Given the description of an element on the screen output the (x, y) to click on. 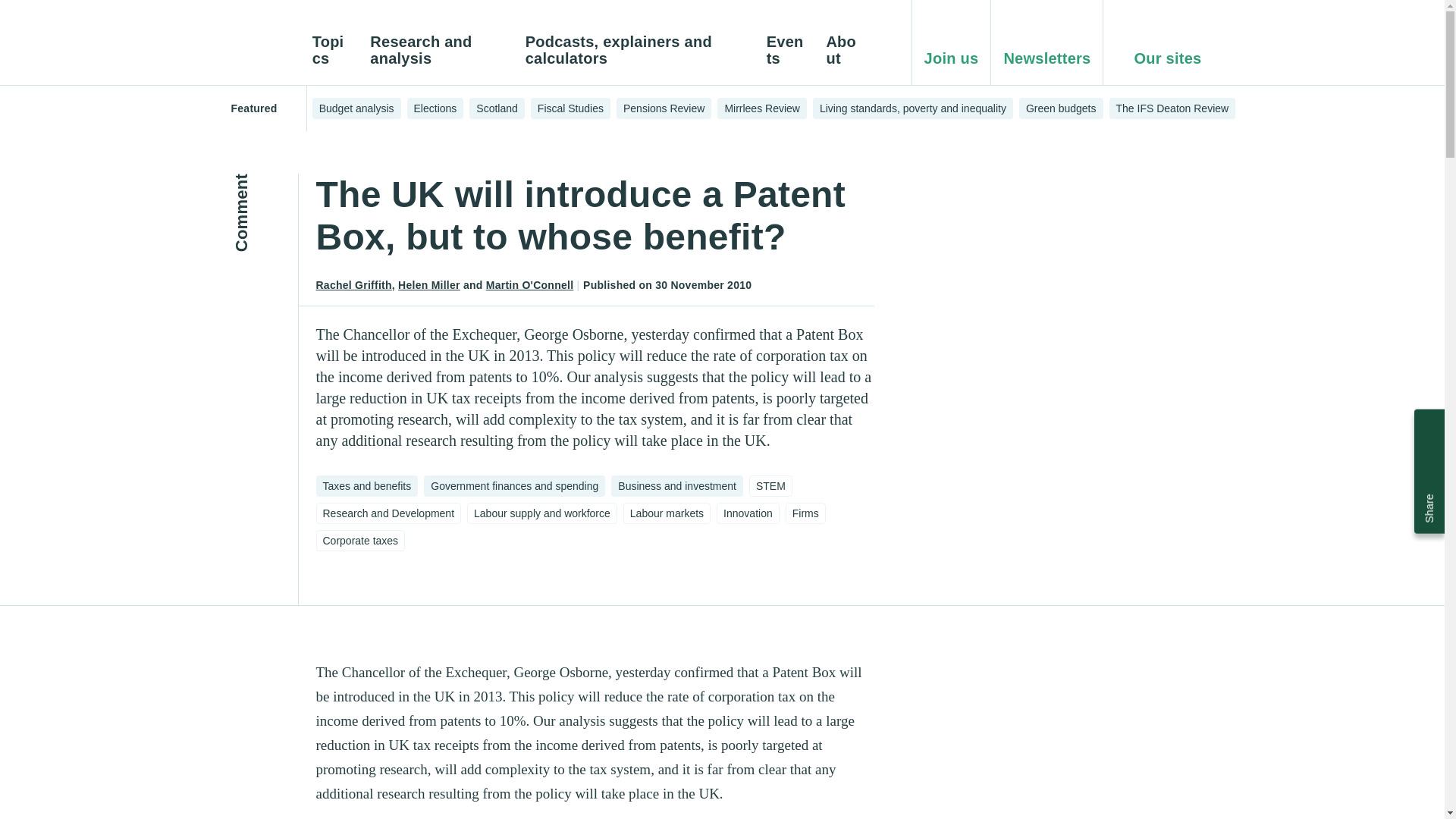
Research and analysis (437, 59)
Podcasts, explainers and calculators (636, 59)
Share via Twitter (1429, 477)
Share via Facebook (1429, 452)
Return to the homepage (262, 47)
Share via Email (1429, 427)
Topics (332, 59)
